Given the description of an element on the screen output the (x, y) to click on. 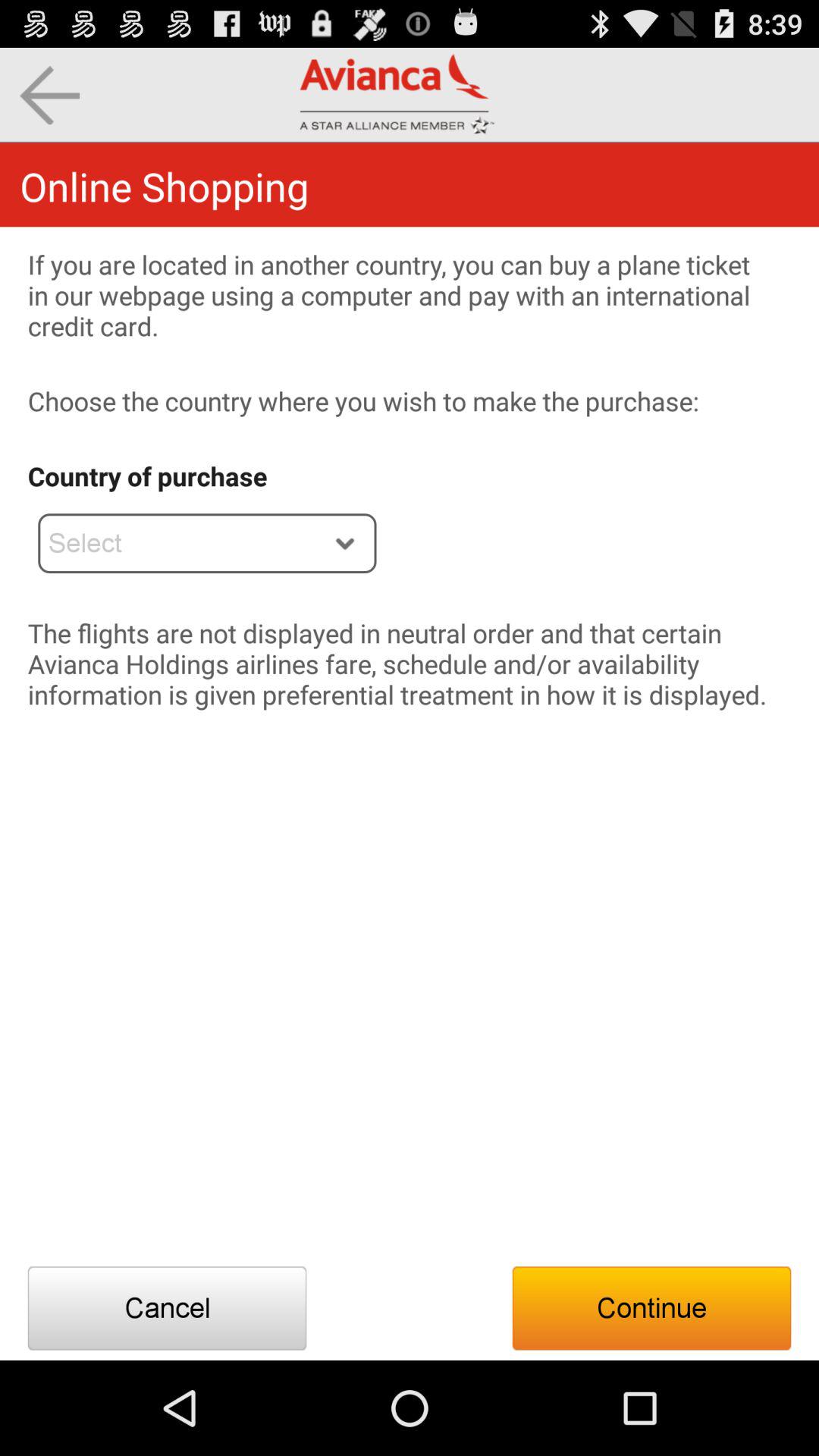
turn on the icon above the online shopping (49, 94)
